Given the description of an element on the screen output the (x, y) to click on. 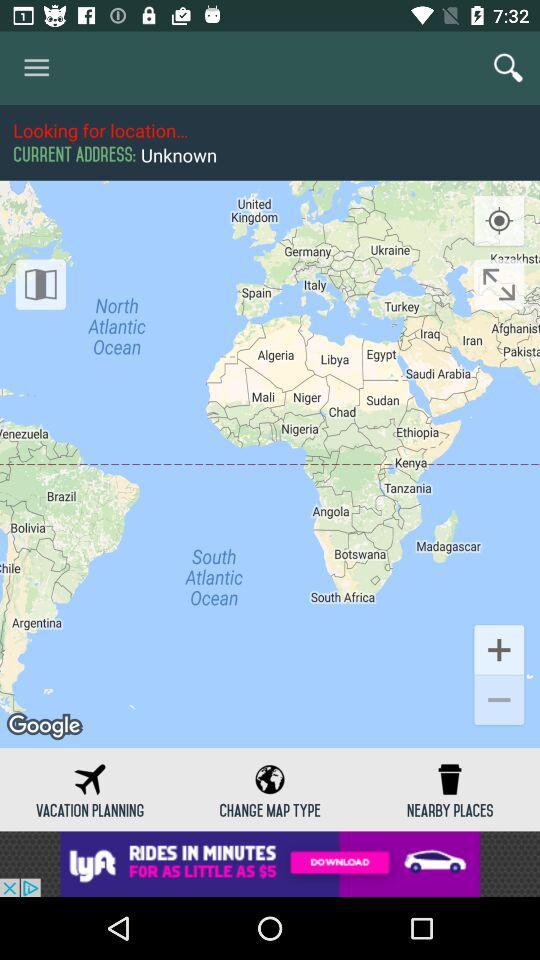
search (508, 67)
